Given the description of an element on the screen output the (x, y) to click on. 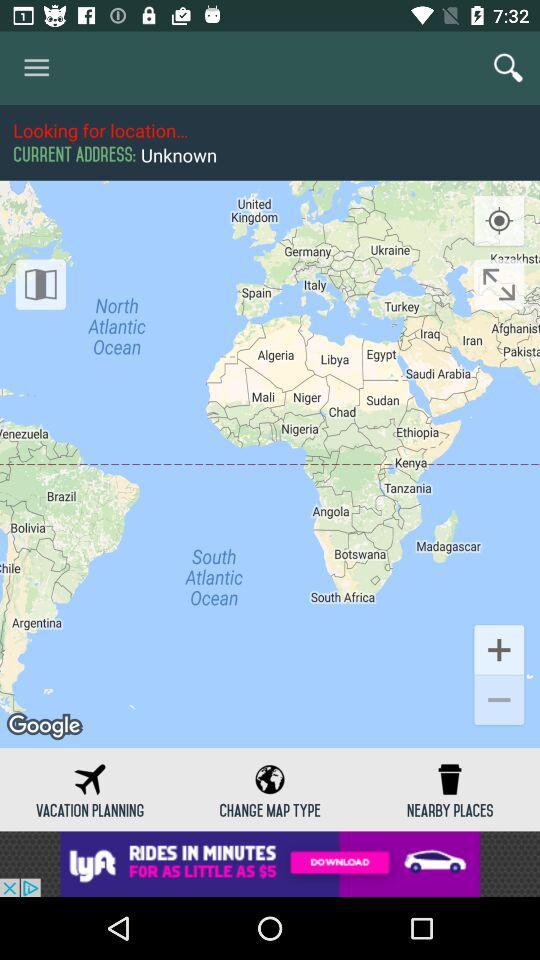
search (508, 67)
